Given the description of an element on the screen output the (x, y) to click on. 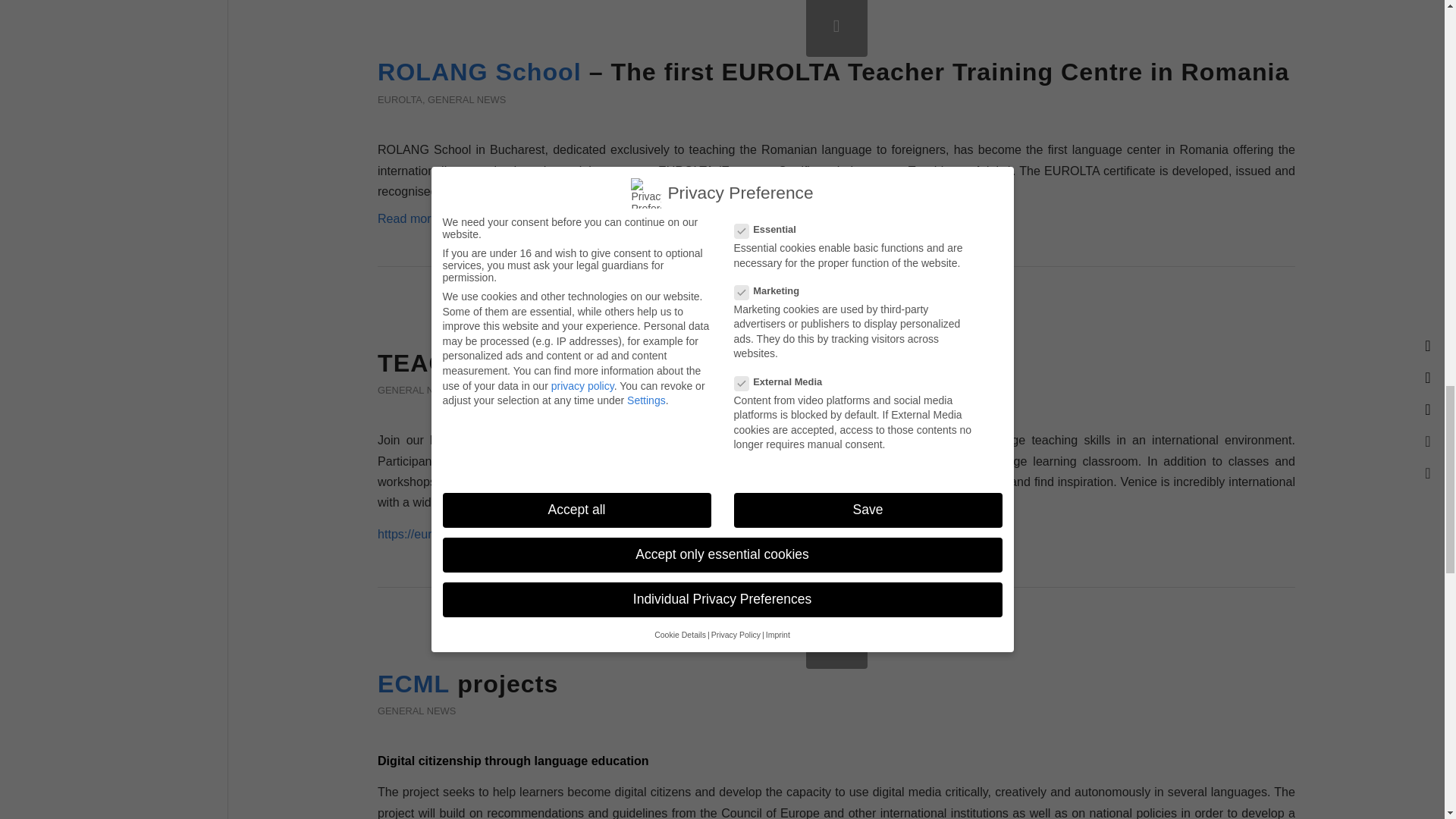
ICC Bubble (835, 317)
